Given the description of an element on the screen output the (x, y) to click on. 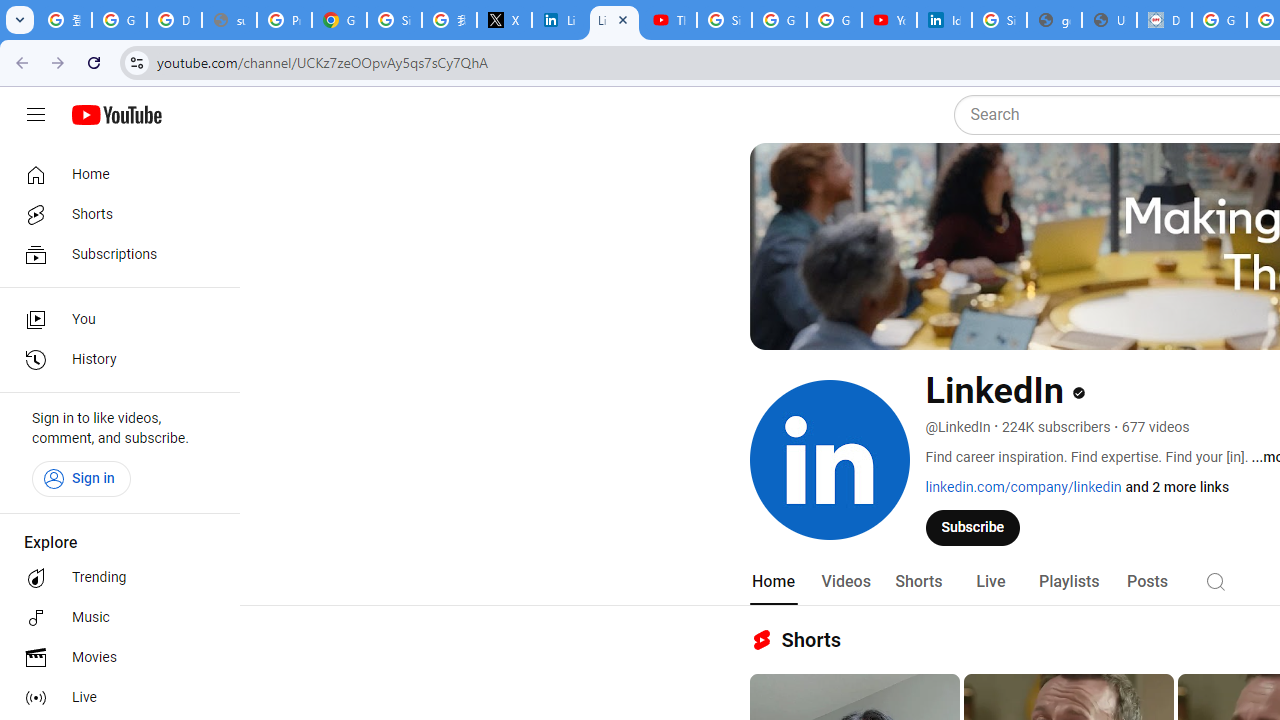
History (113, 359)
YouTube Home (116, 115)
Trending (113, 578)
